Given the description of an element on the screen output the (x, y) to click on. 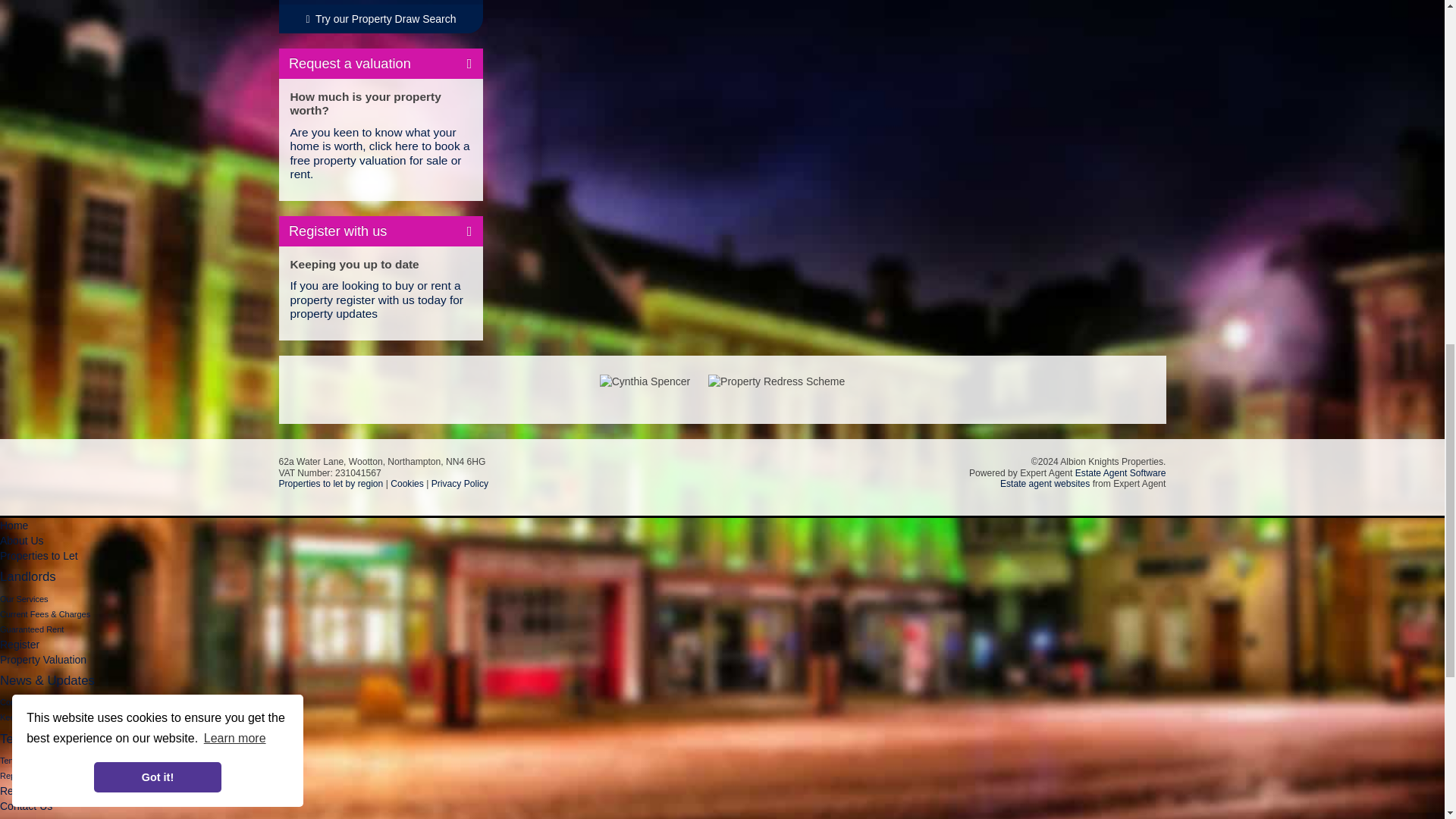
Cookies (406, 483)
Privacy Policy (458, 483)
Estate agent websites (1044, 483)
Estate Agent Software (1120, 472)
Properties to let by region (331, 483)
  Try our Property Draw Search (381, 18)
